Given the description of an element on the screen output the (x, y) to click on. 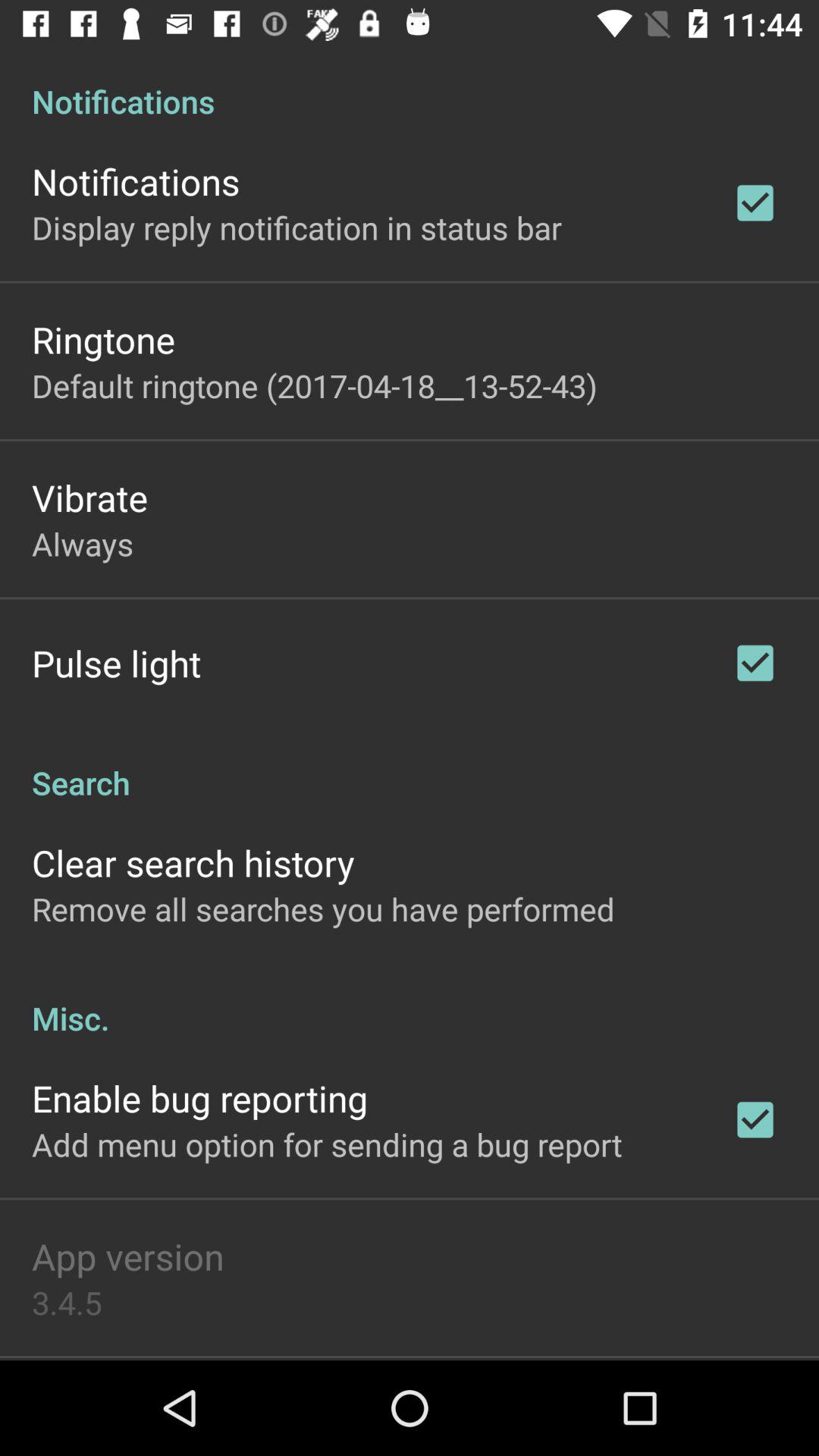
open the icon above misc. icon (322, 908)
